Given the description of an element on the screen output the (x, y) to click on. 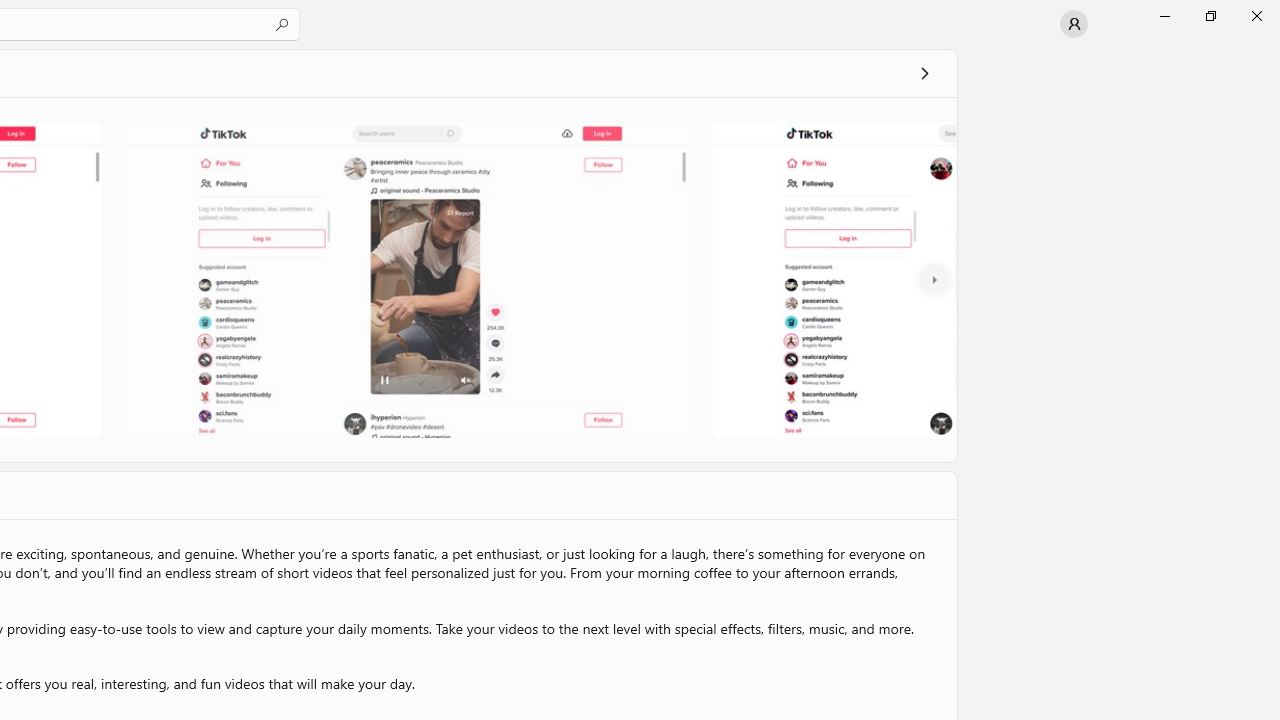
Screenshot 3 (832, 279)
See all (924, 72)
Close Microsoft Store (1256, 15)
Screenshot 2 (406, 279)
User profile (1073, 24)
Minimize Microsoft Store (1164, 15)
Restore Microsoft Store (1210, 15)
